Given the description of an element on the screen output the (x, y) to click on. 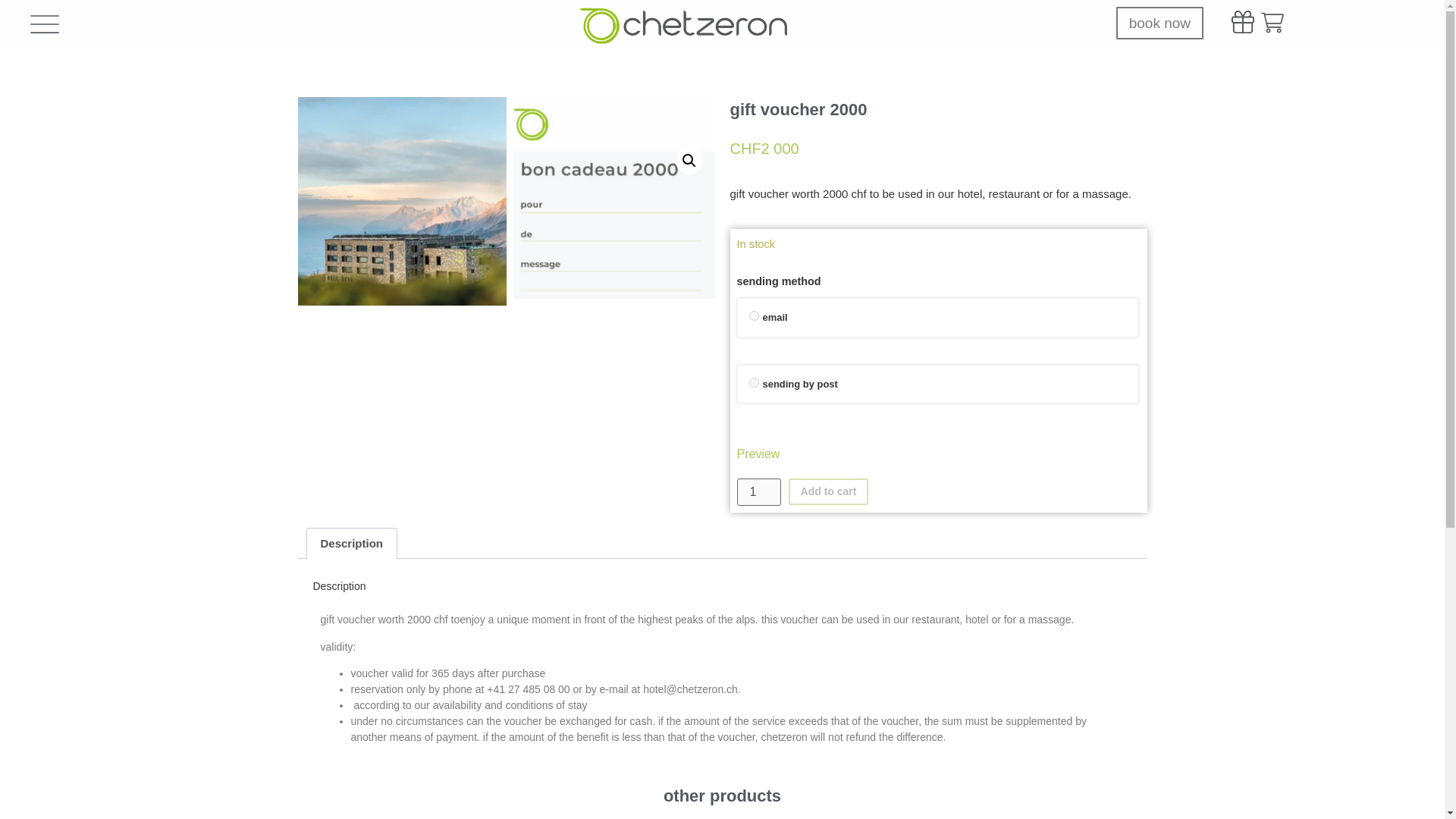
email (753, 316)
offline (753, 382)
Description (350, 542)
Preview (934, 454)
Vignettes bon valeur16 (505, 201)
1 (758, 492)
book now (1160, 22)
Add to cart (829, 491)
